Given the description of an element on the screen output the (x, y) to click on. 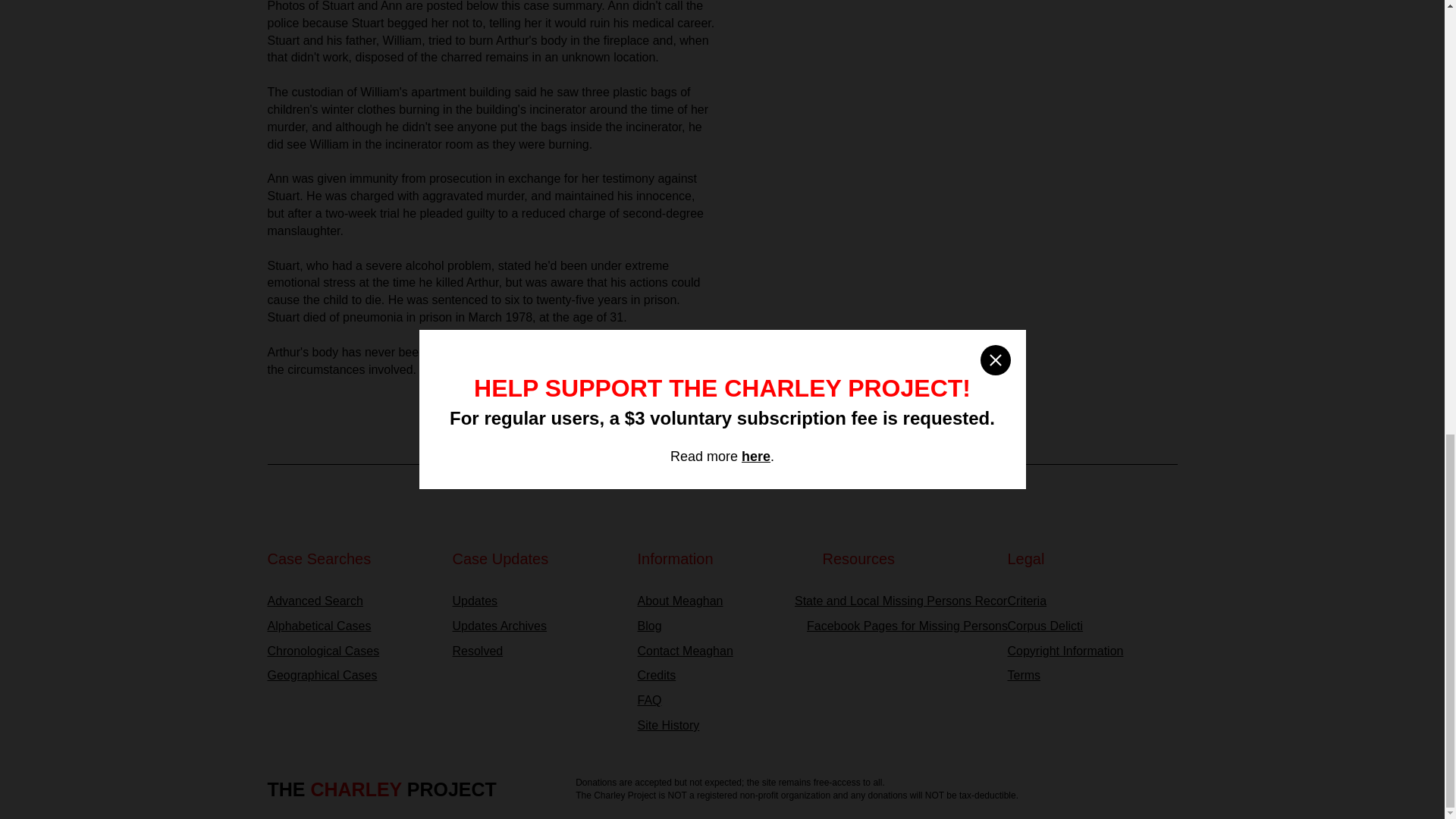
Updates (536, 601)
Chronological Cases (351, 651)
Geographical Cases (351, 675)
Advanced Search (351, 601)
About Meaghan (721, 601)
Alphabetical Cases (351, 626)
Resolved (536, 651)
Updates Archives (536, 626)
